Given the description of an element on the screen output the (x, y) to click on. 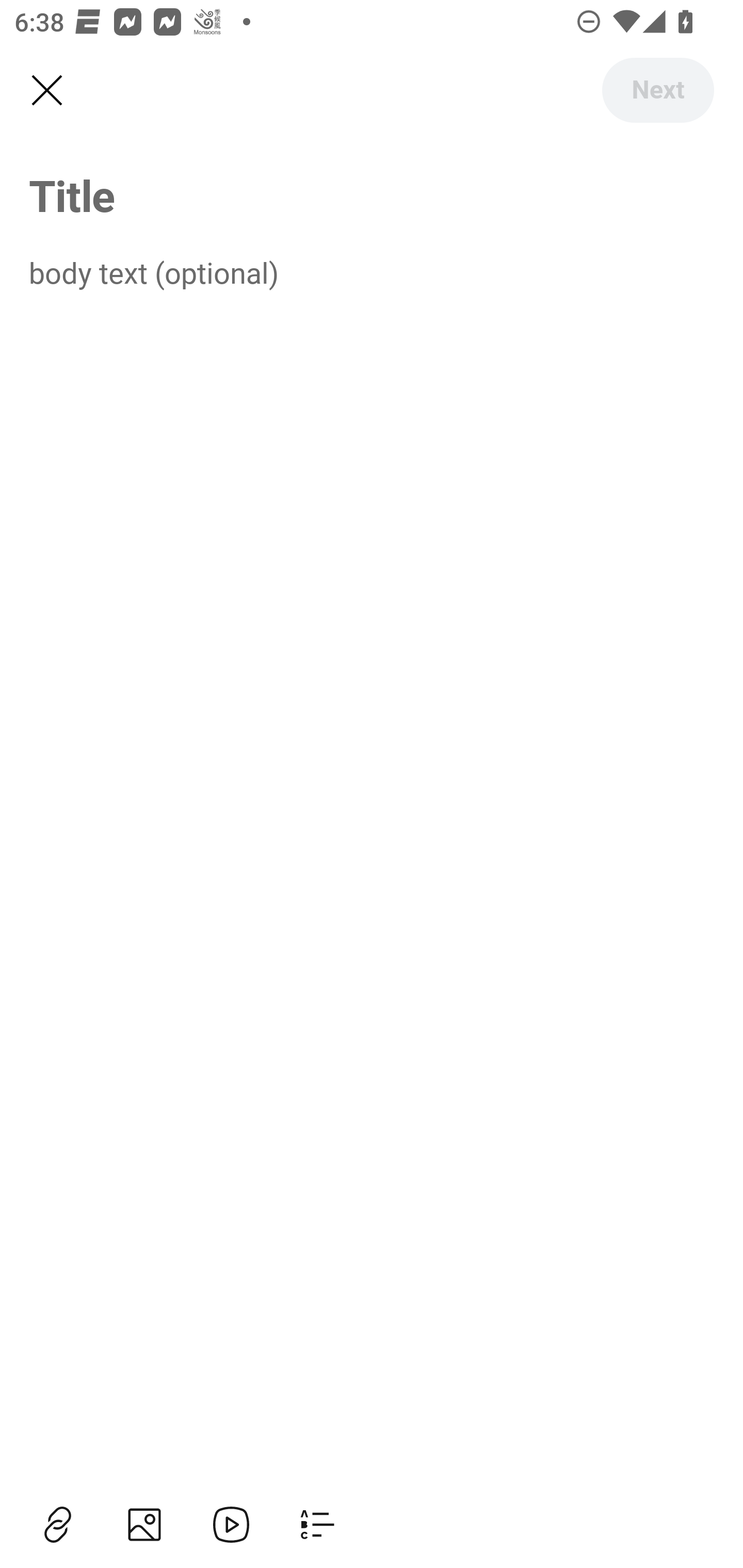
Close (46, 90)
Next (657, 90)
Post title (371, 195)
body text (optional) (371, 271)
